Given the description of an element on the screen output the (x, y) to click on. 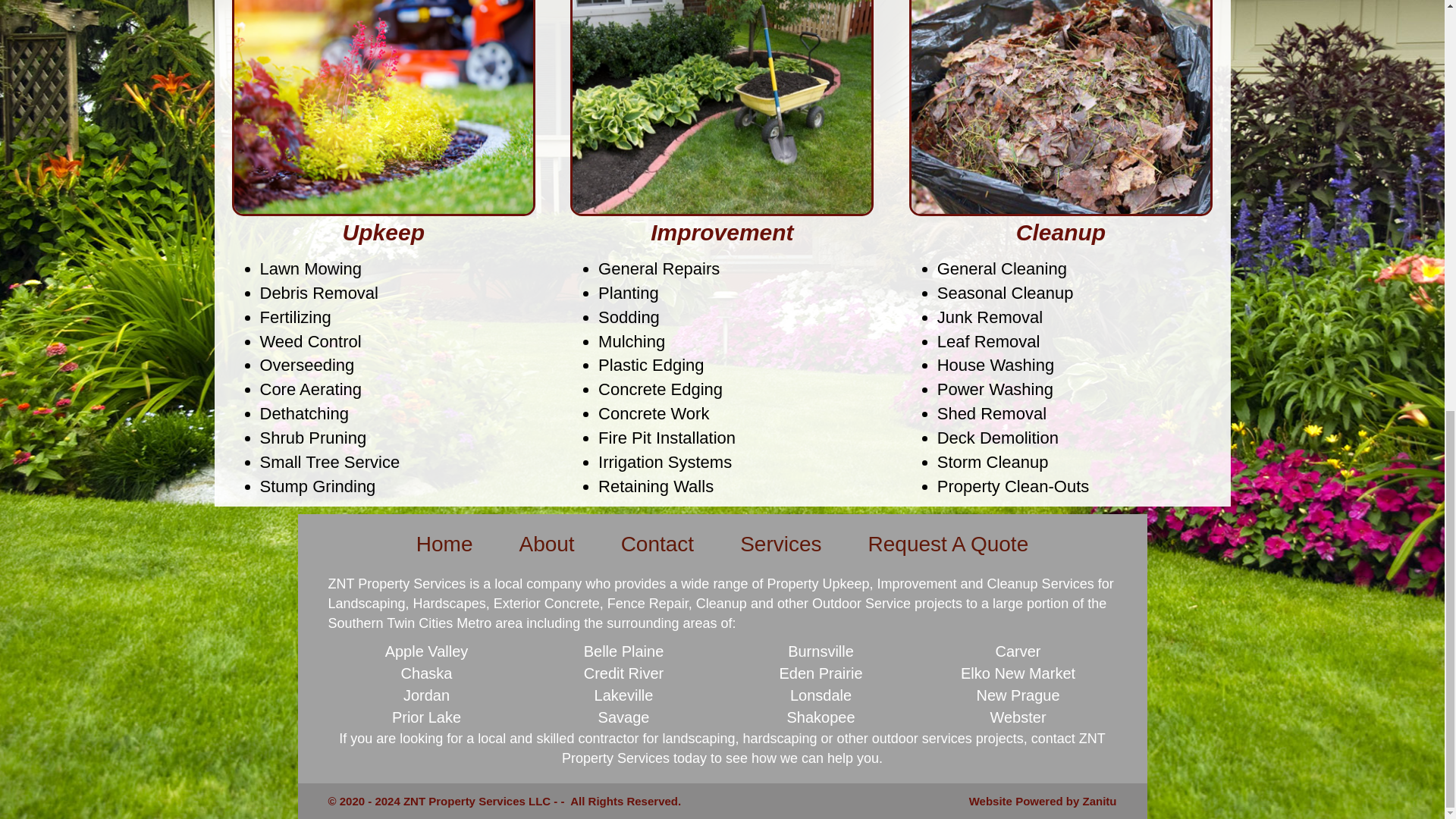
Upkeep (383, 232)
Lawn Mowing (310, 268)
Shrub Pruning (312, 437)
Weed Control (310, 341)
Improvement (721, 232)
Stump Grinding (317, 486)
Debris Removal (318, 292)
Fertilizing (294, 316)
Dethatching (303, 413)
Small Tree Service (328, 461)
Core Aerating (310, 389)
Overseeding (306, 364)
